Given the description of an element on the screen output the (x, y) to click on. 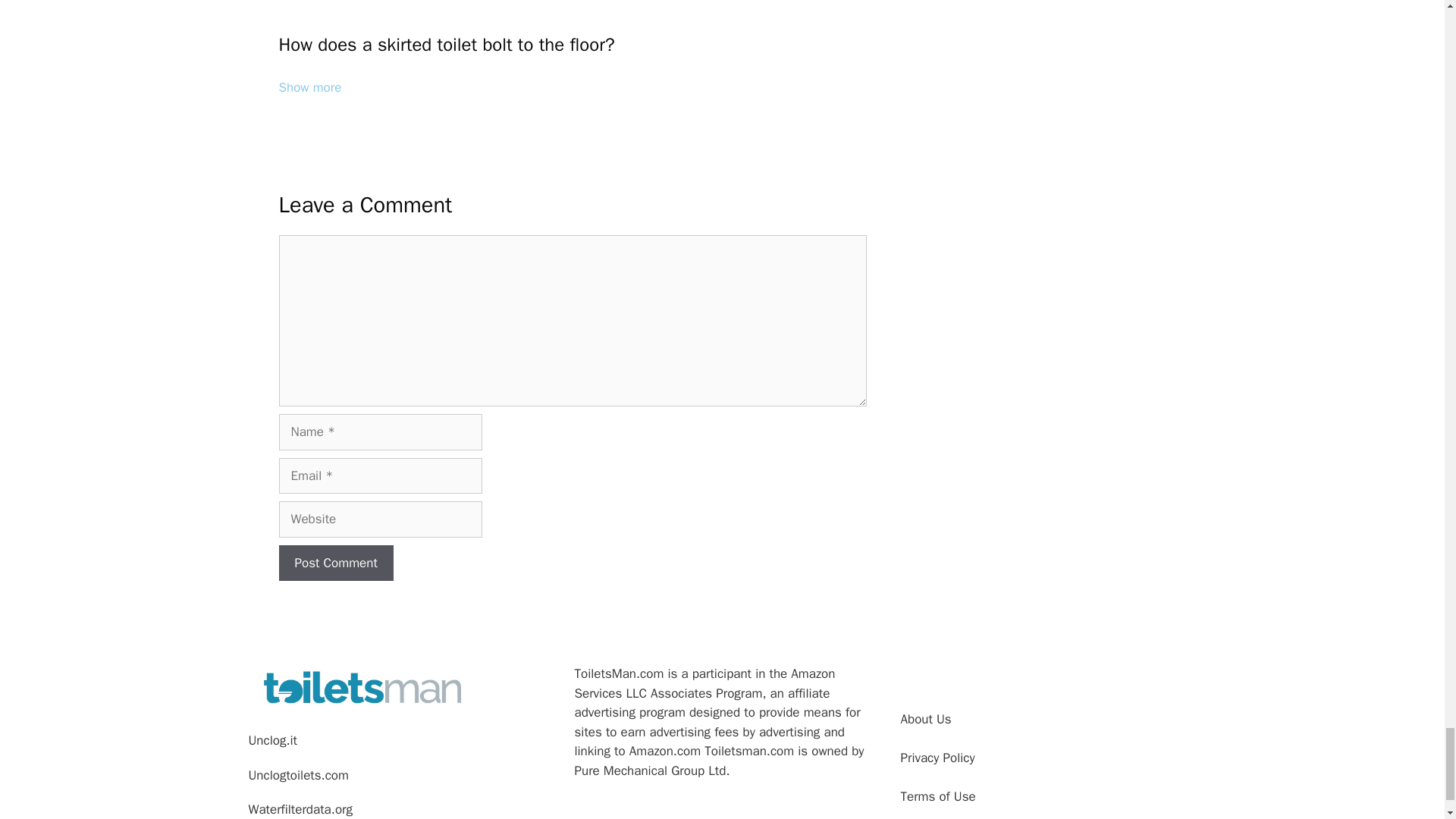
Post Comment (336, 563)
